Given the description of an element on the screen output the (x, y) to click on. 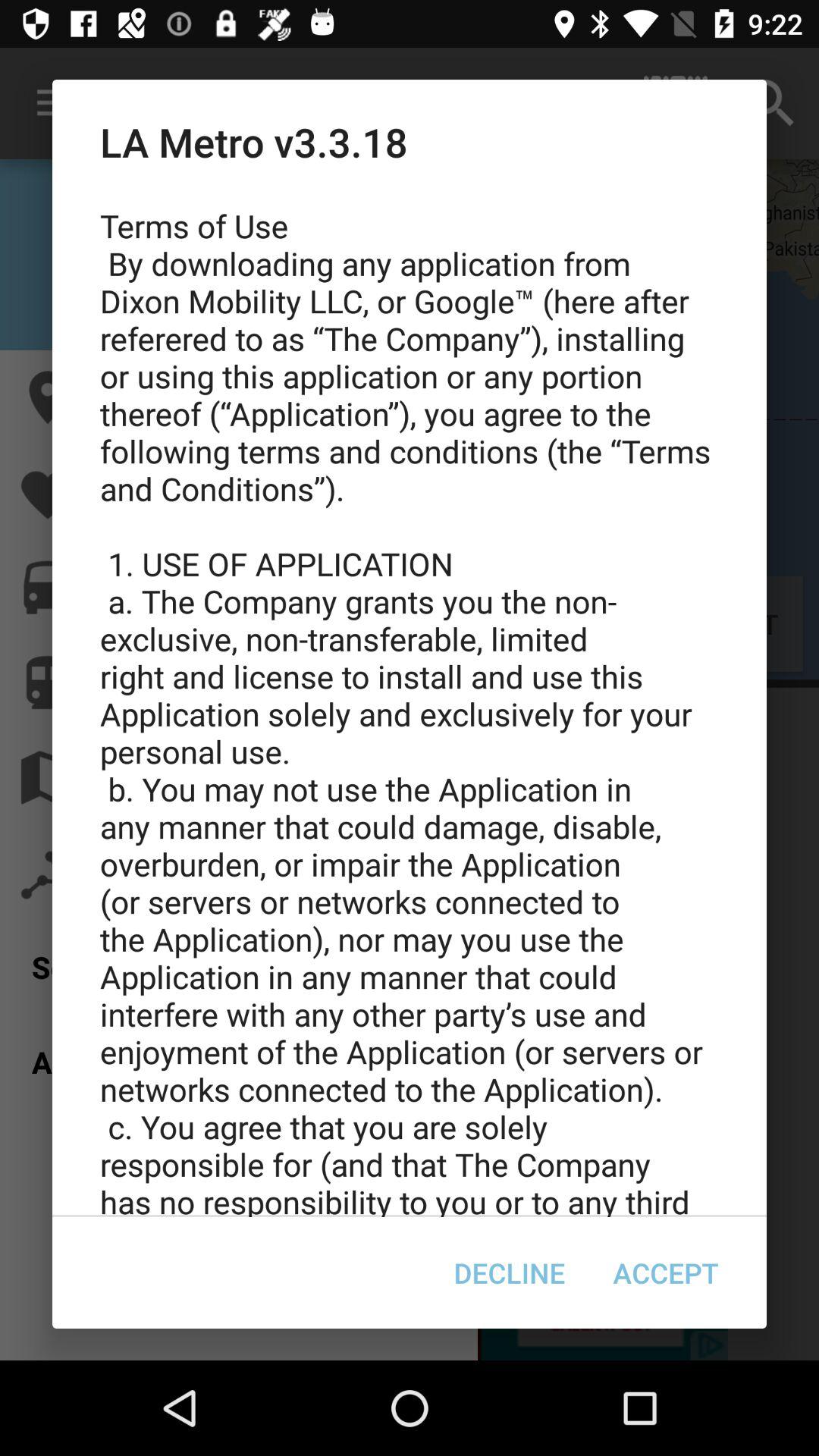
click item at the bottom (509, 1272)
